Given the description of an element on the screen output the (x, y) to click on. 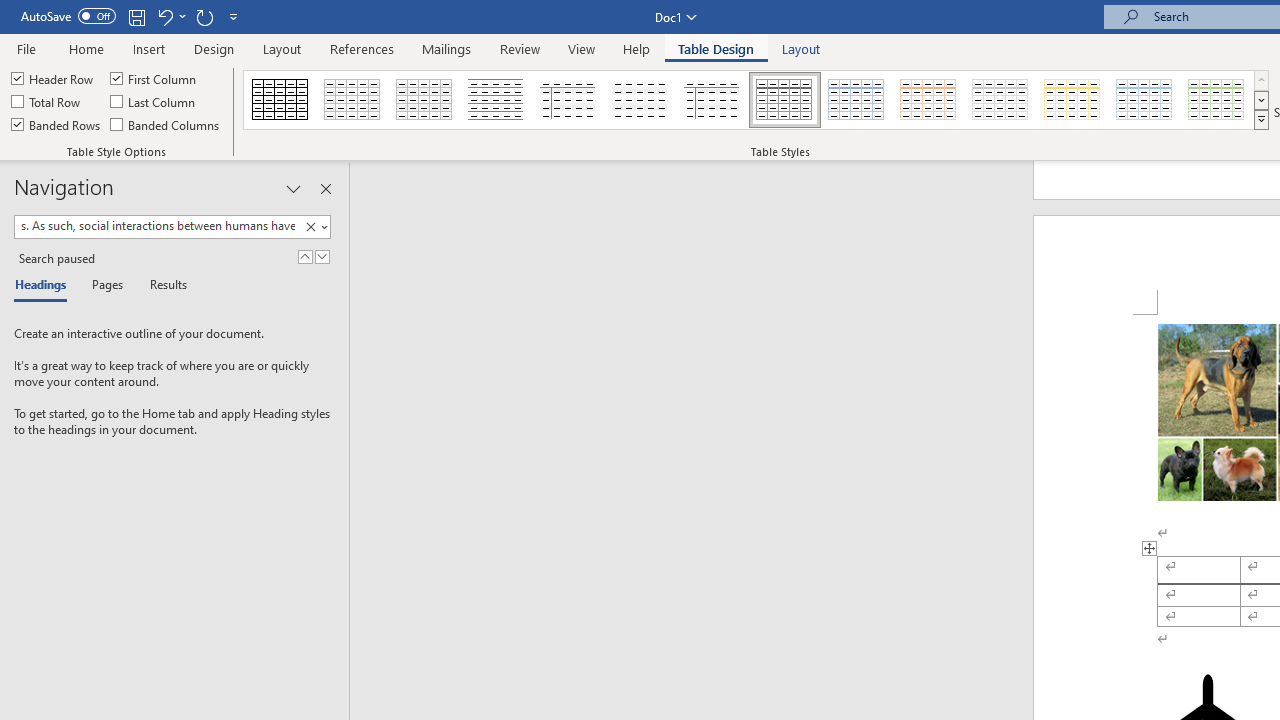
First Column (155, 78)
Clear (310, 227)
Clear (314, 227)
Plain Table 2 (496, 100)
Grid Table 1 Light - Accent 5 (1144, 100)
Banded Rows (57, 124)
Table Styles (1261, 120)
AutomationID: TableStylesGalleryWord (756, 99)
